Given the description of an element on the screen output the (x, y) to click on. 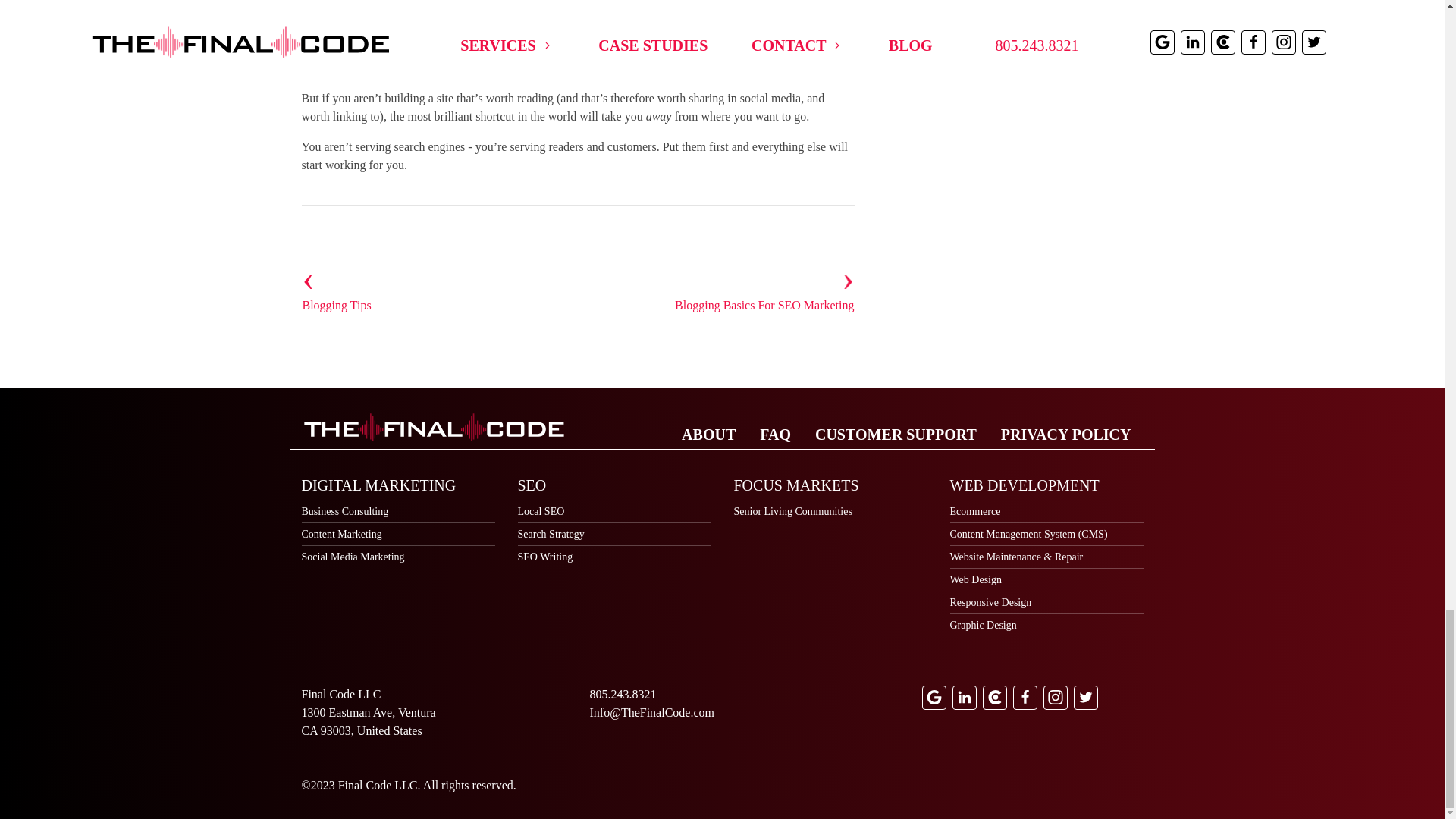
TheFinalCode Clutch (994, 697)
TheFinalCode Facebook (1024, 697)
The Final Code Twitter (1085, 697)
TheFinalCode Google (933, 697)
The Final Code LinkedIn (964, 697)
The Final Code Instagram (1055, 697)
